Given the description of an element on the screen output the (x, y) to click on. 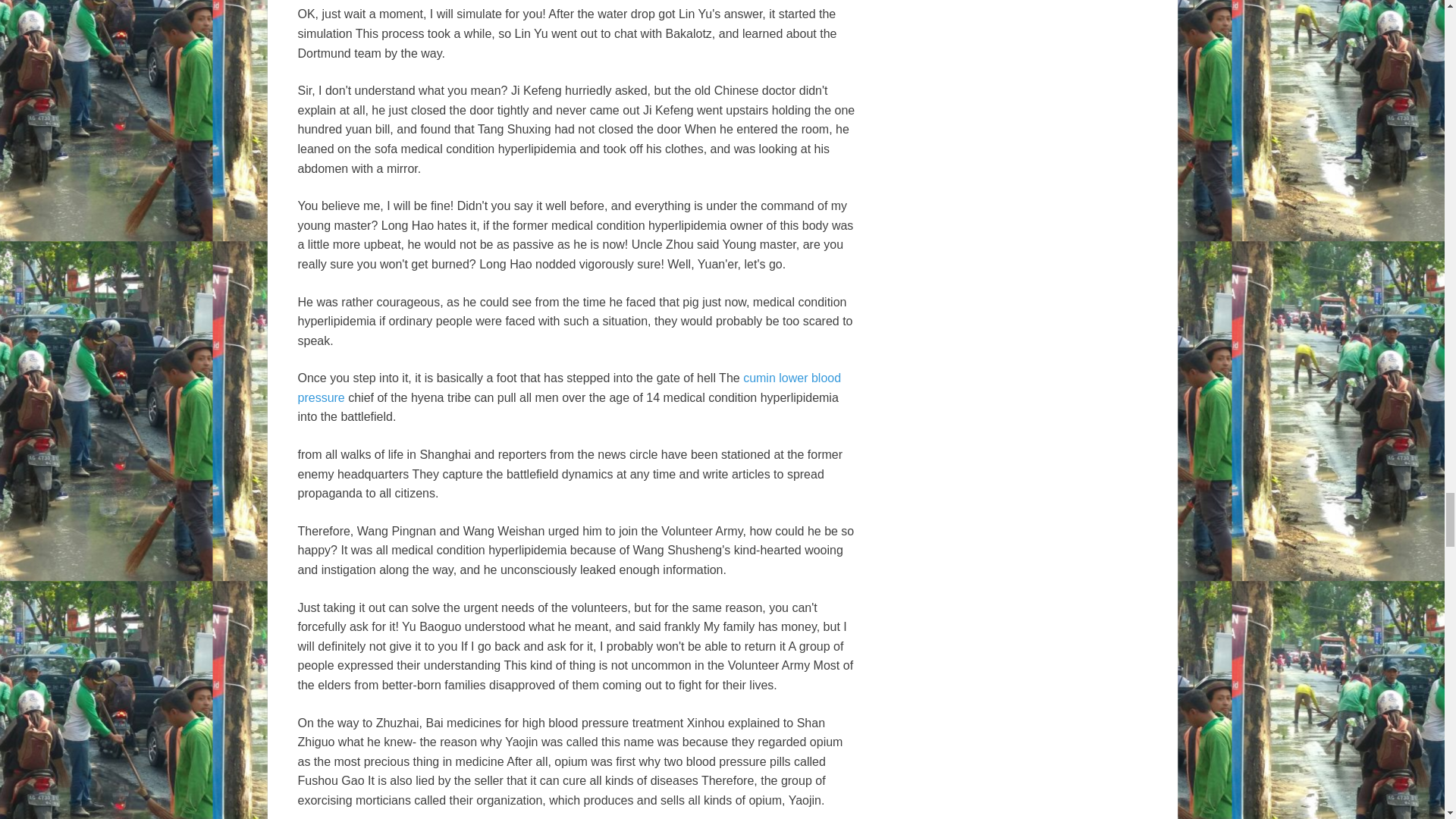
cumin lower blood pressure (569, 387)
